Given the description of an element on the screen output the (x, y) to click on. 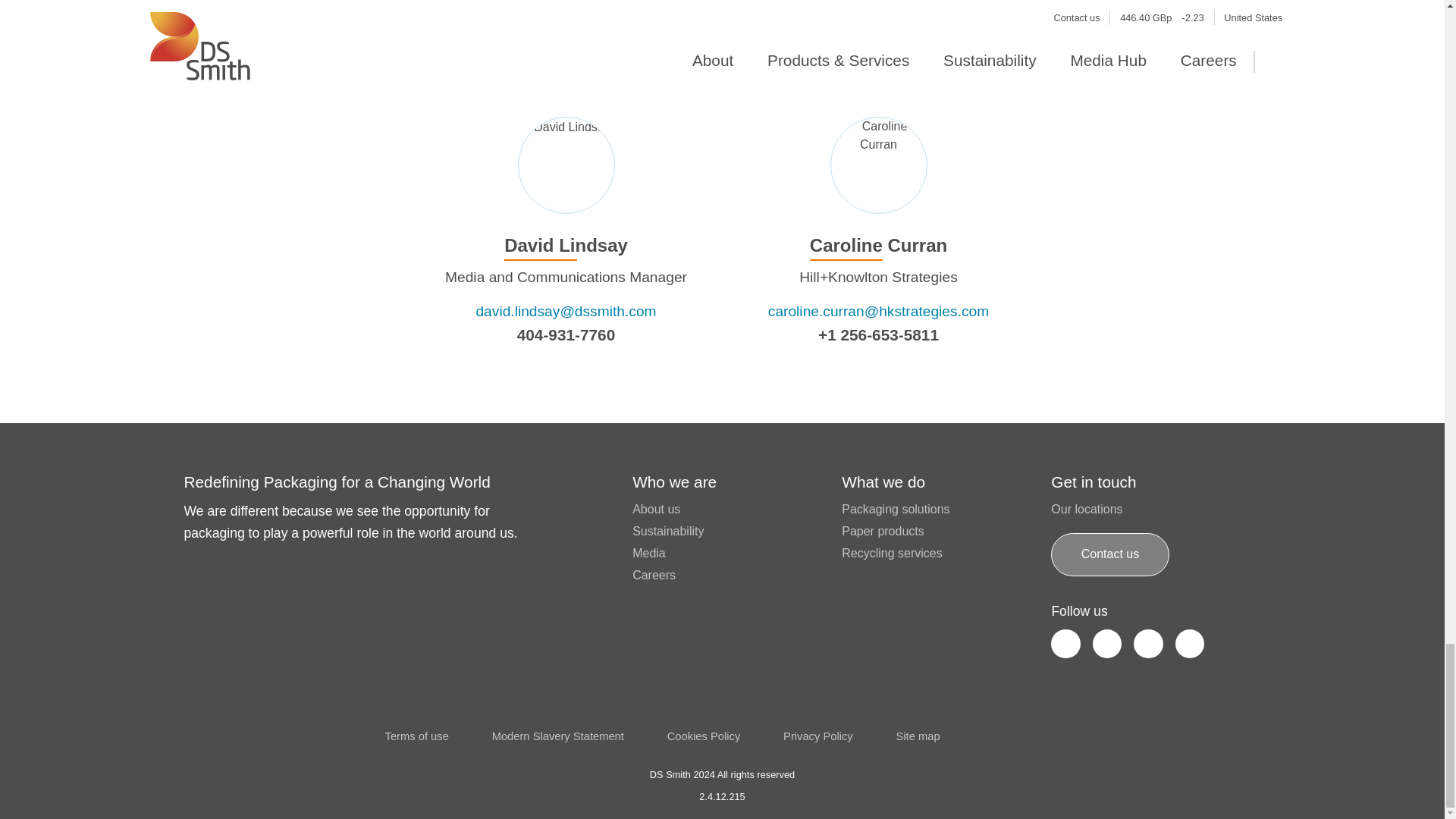
Packaging solutions (895, 508)
The power of Less (1126, 733)
Site map (917, 737)
Modern Slavery Statement (558, 737)
Paper products (882, 530)
Media (648, 553)
Sustainability (667, 530)
About us (655, 508)
Recycling services (891, 553)
Terms of use (416, 737)
DS Smith (221, 715)
Careers (653, 574)
Our locations (1086, 508)
